Given the description of an element on the screen output the (x, y) to click on. 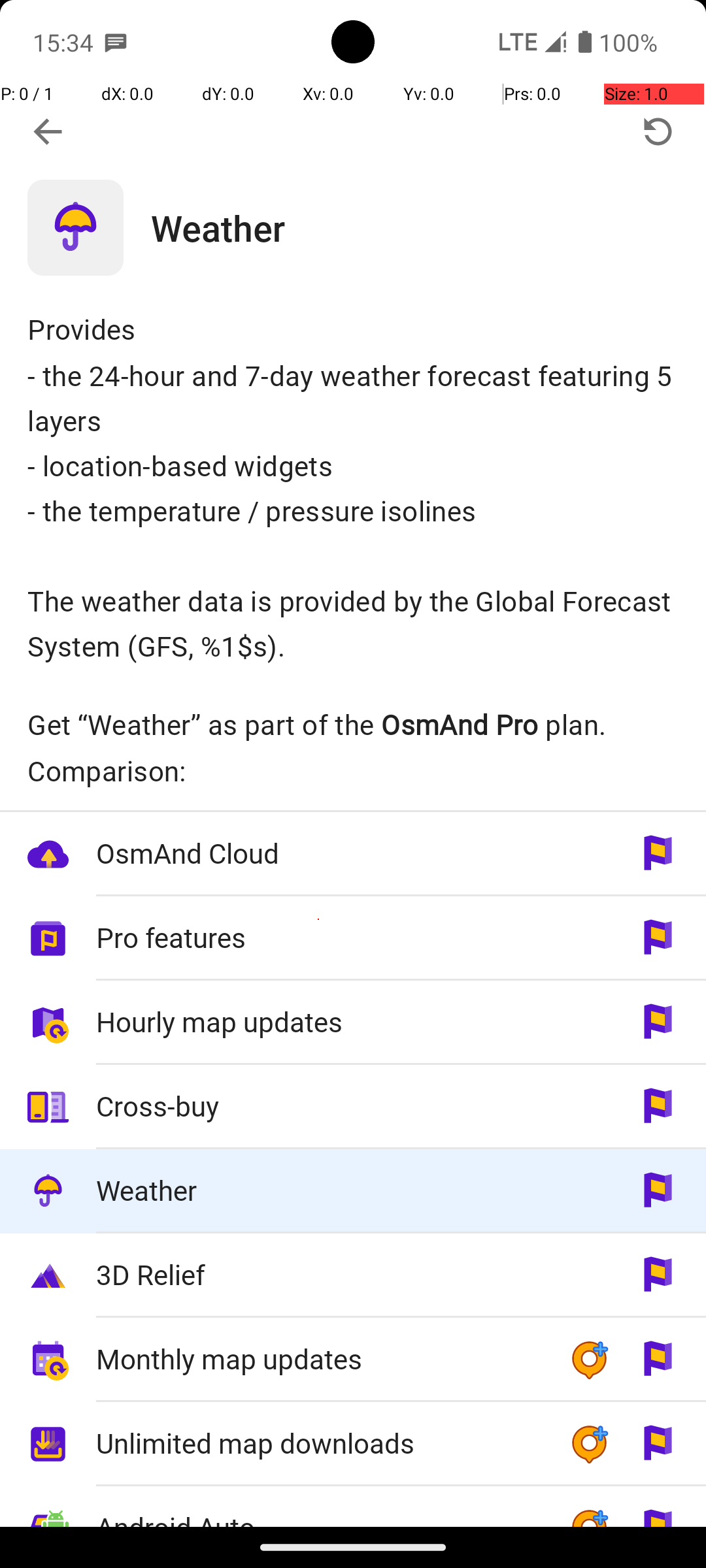
Weather Element type: android.widget.TextView (428, 227)
Restore purchases Element type: android.widget.ImageButton (657, 131)
Provides
- the 24-hour and 7-day weather forecast featuring 5 layers
- location-based widgets
- the temperature / pressure isolines

The weather data is provided by the Global Forecast System (GFS, %1$s). Element type: android.widget.TextView (353, 487)
Get “Weather” as part of the OsmAnd Pro plan. Comparison: Element type: android.widget.TextView (353, 747)
OsmAnd Cloud available as part of the OsmAnd Pro plan Element type: android.widget.LinearLayout (353, 854)
Pro features available as part of the OsmAnd Pro plan Element type: android.widget.LinearLayout (353, 938)
Hourly map updates available as part of the OsmAnd Pro plan Element type: android.widget.LinearLayout (353, 1022)
Cross-buy available as part of the OsmAnd Pro plan Element type: android.widget.LinearLayout (353, 1106)
Weather available as part of the OsmAnd Pro plan Element type: android.widget.LinearLayout (353, 1191)
3D Relief available as part of the OsmAnd Pro plan Element type: android.widget.LinearLayout (353, 1275)
Monthly map updates available as part of the OsmAnd+ or OsmAnd Pro plan Element type: android.widget.LinearLayout (353, 1359)
Unlimited map downloads available as part of the OsmAnd+ or OsmAnd Pro plan Element type: android.widget.LinearLayout (353, 1444)
Android Auto available as part of the OsmAnd+ or OsmAnd Pro plan Element type: android.widget.LinearLayout (353, 1506)
OsmAnd Cloud Element type: android.widget.TextView (318, 852)
Pro features Element type: android.widget.TextView (318, 936)
Hourly map updates Element type: android.widget.TextView (318, 1021)
Cross-buy Element type: android.widget.TextView (318, 1105)
3D Relief Element type: android.widget.TextView (318, 1273)
Monthly map updates Element type: android.widget.TextView (318, 1358)
Unlimited map downloads Element type: android.widget.TextView (318, 1442)
